Given the description of an element on the screen output the (x, y) to click on. 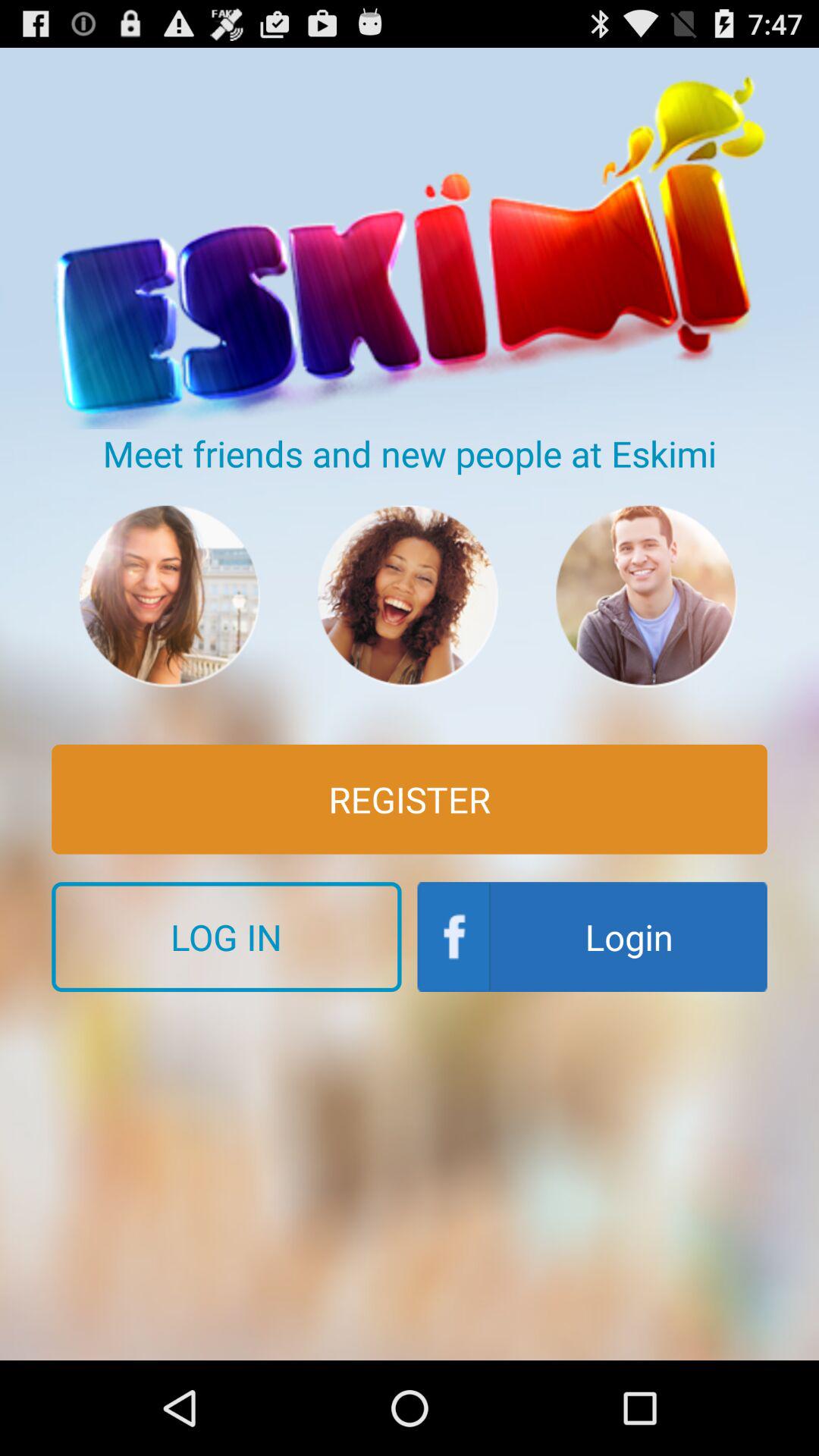
tap the icon next to login item (226, 936)
